Given the description of an element on the screen output the (x, y) to click on. 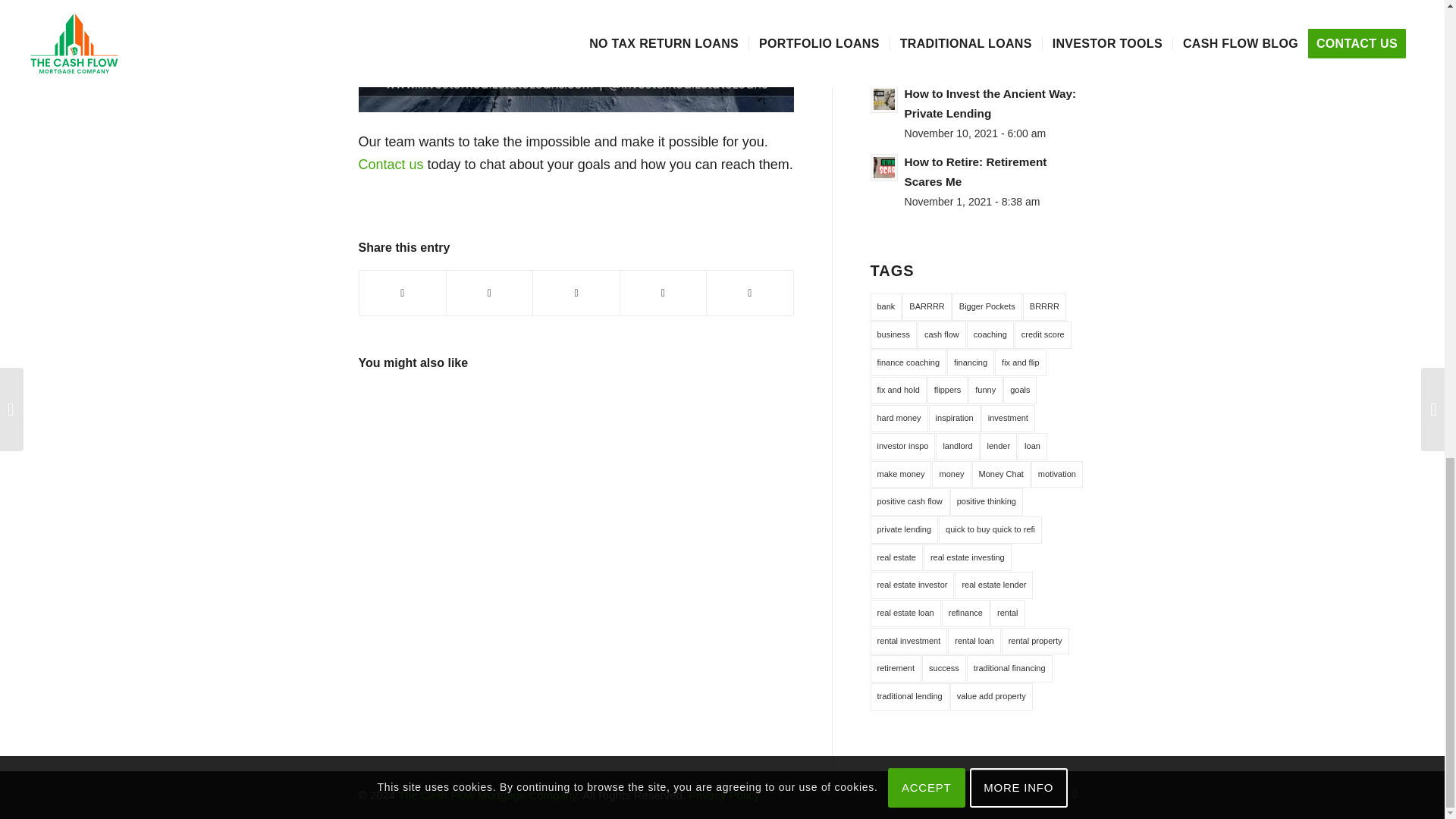
Motivational Monday - Dream Big (520, 438)
Contact us (390, 164)
5 Ways to Find Wholesale Leads and Deals (628, 438)
How To Buy 3 New Rental Properties This Year (412, 438)
